Given the description of an element on the screen output the (x, y) to click on. 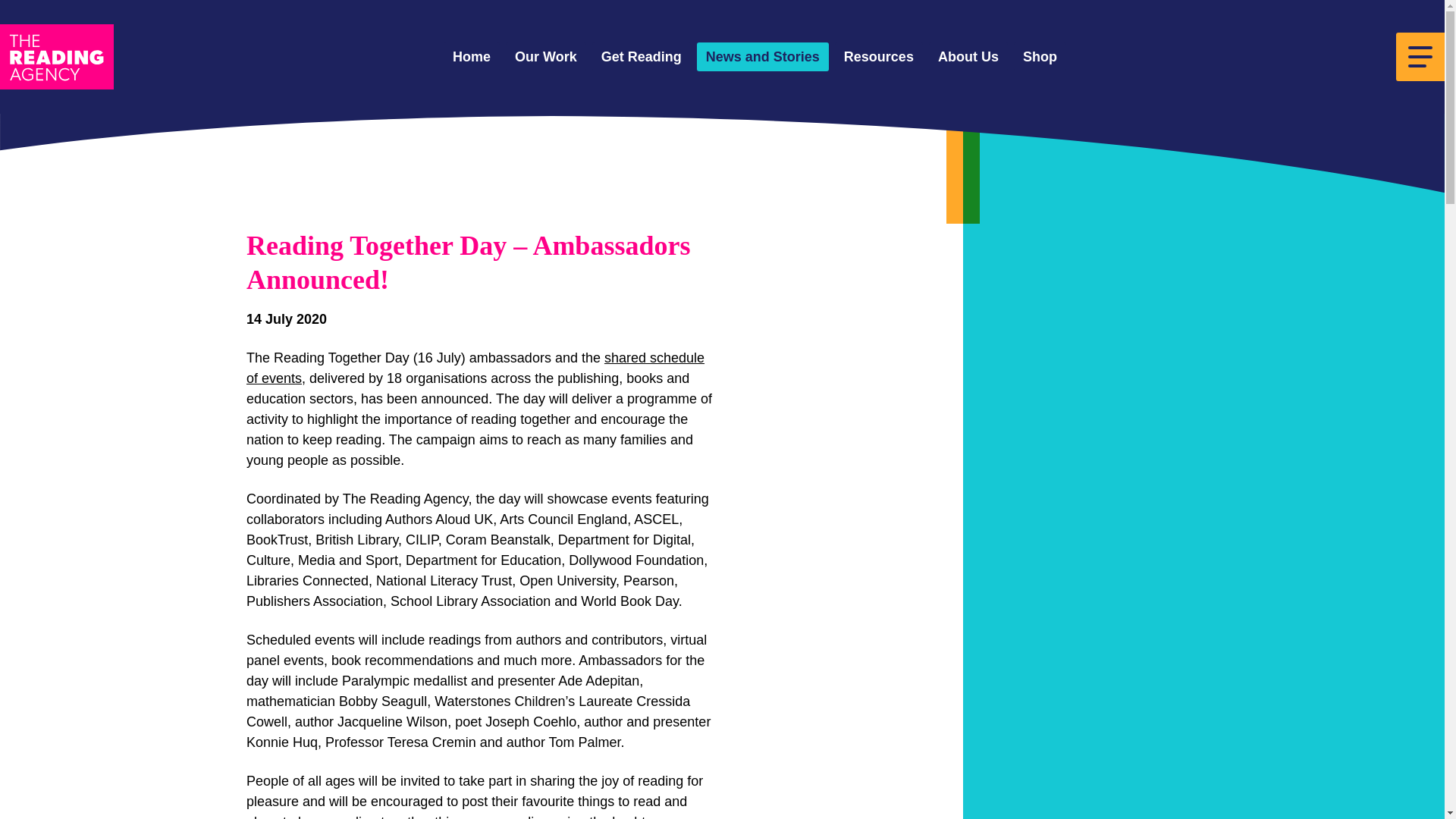
News and Stories (762, 57)
Our Work (545, 57)
Resources (878, 57)
shared schedule of events (475, 367)
About Us (967, 57)
Home (471, 57)
Shop (1039, 57)
Get Reading (641, 57)
